Given the description of an element on the screen output the (x, y) to click on. 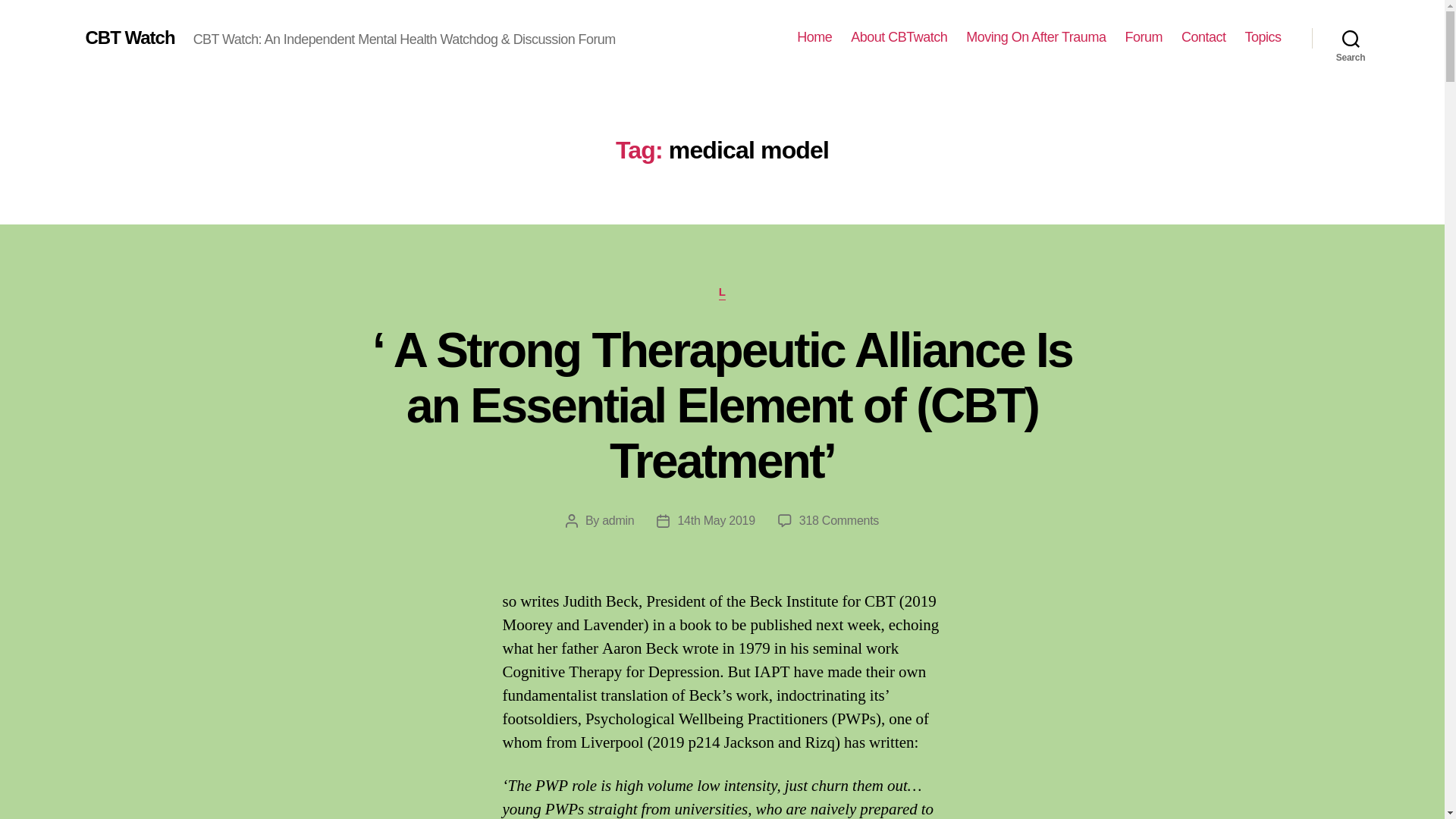
admin (617, 520)
Forum (1142, 37)
14th May 2019 (715, 520)
Search (1350, 37)
Contact (1202, 37)
About CBTwatch (898, 37)
Moving On After Trauma (1035, 37)
Home (813, 37)
CBT Watch (129, 37)
Topics (1262, 37)
